Given the description of an element on the screen output the (x, y) to click on. 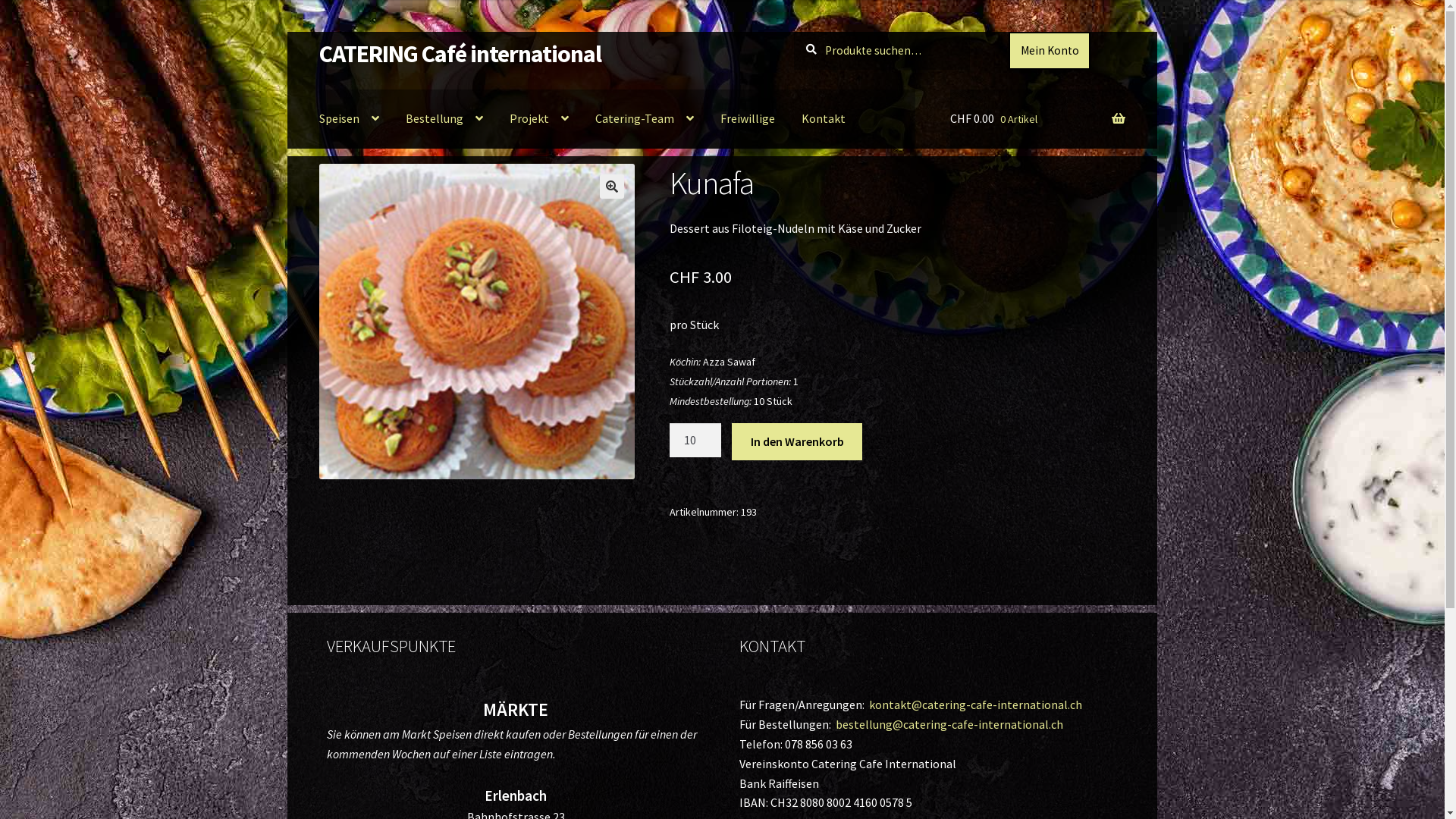
In den Warenkorb Element type: text (796, 442)
Projekt Element type: text (538, 118)
Freiwillige Element type: text (747, 118)
kunafa Element type: hover (476, 321)
bestellung@catering-cafe-international.ch Element type: text (949, 723)
Catering-Team Element type: text (644, 118)
Kontakt Element type: text (823, 118)
Mein Konto Element type: text (1049, 50)
Zur Navigation springen Element type: text (318, 31)
CHF 0.00 0 Artikel Element type: text (1037, 118)
Speisen Element type: text (349, 118)
Bestellung Element type: text (444, 118)
kontakt@catering-cafe-international.ch Element type: text (975, 704)
Suche Element type: text (793, 31)
